Given the description of an element on the screen output the (x, y) to click on. 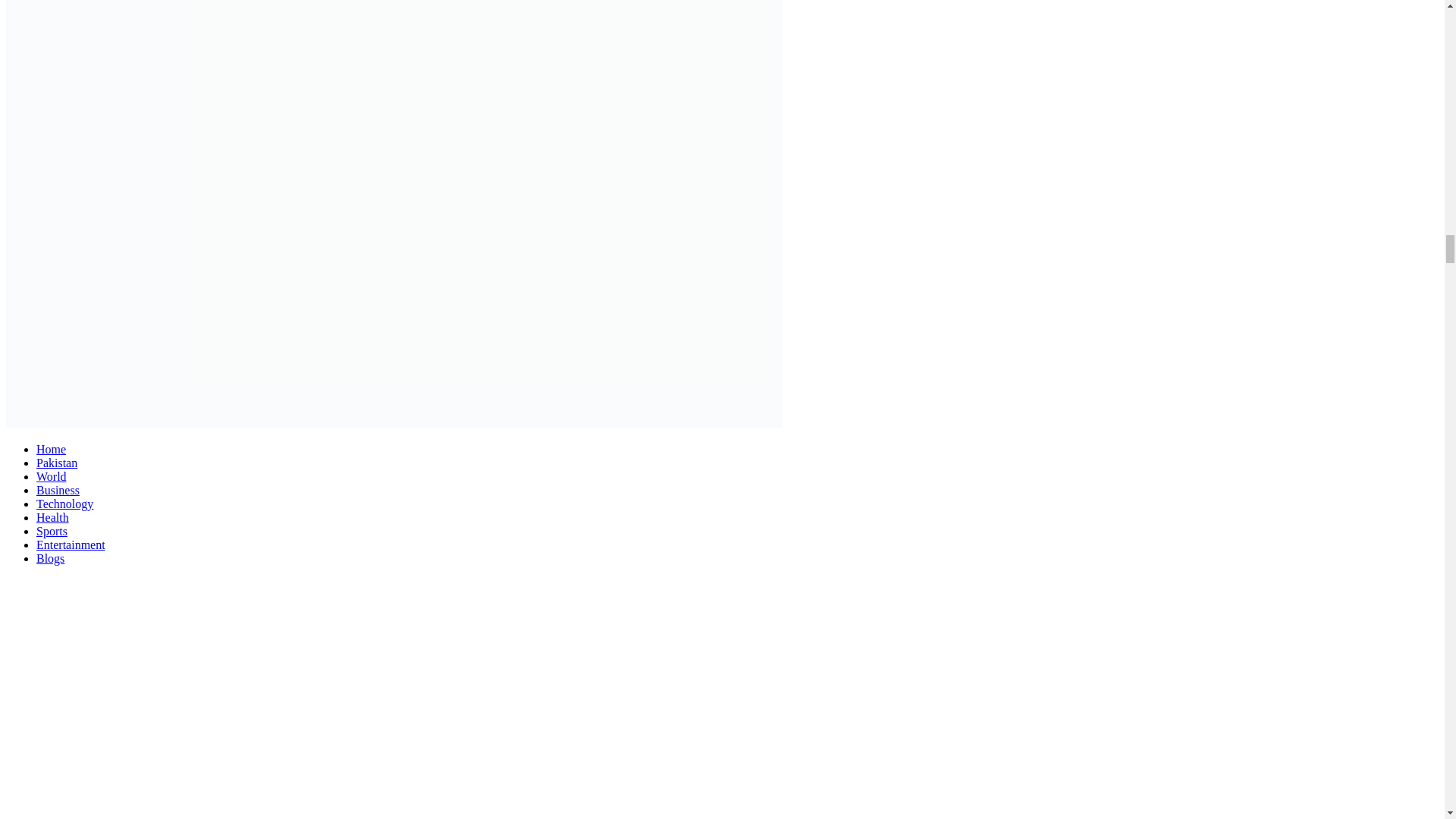
Home (50, 449)
Sports (51, 530)
Business (58, 490)
Blogs (50, 558)
Technology (64, 503)
Pakistan (56, 462)
World (51, 476)
Entertainment (70, 544)
Health (52, 517)
